Given the description of an element on the screen output the (x, y) to click on. 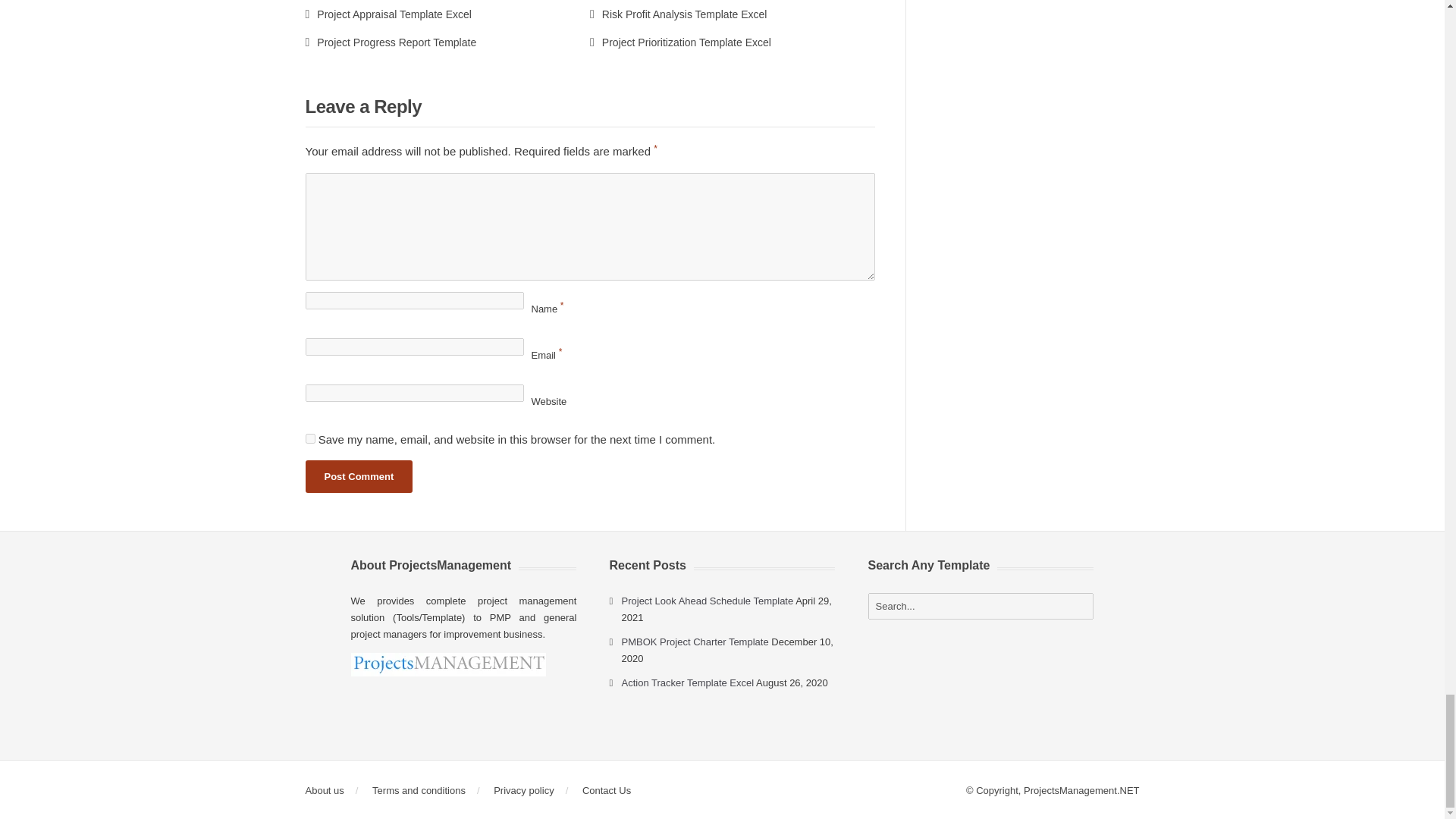
Risk Profit Analysis Template Excel (678, 14)
Project Appraisal Template Excel (387, 14)
Project Progress Report Template (390, 42)
Search... (980, 605)
yes (309, 438)
Project Prioritization Template Excel (680, 42)
Post Comment (358, 476)
